Given the description of an element on the screen output the (x, y) to click on. 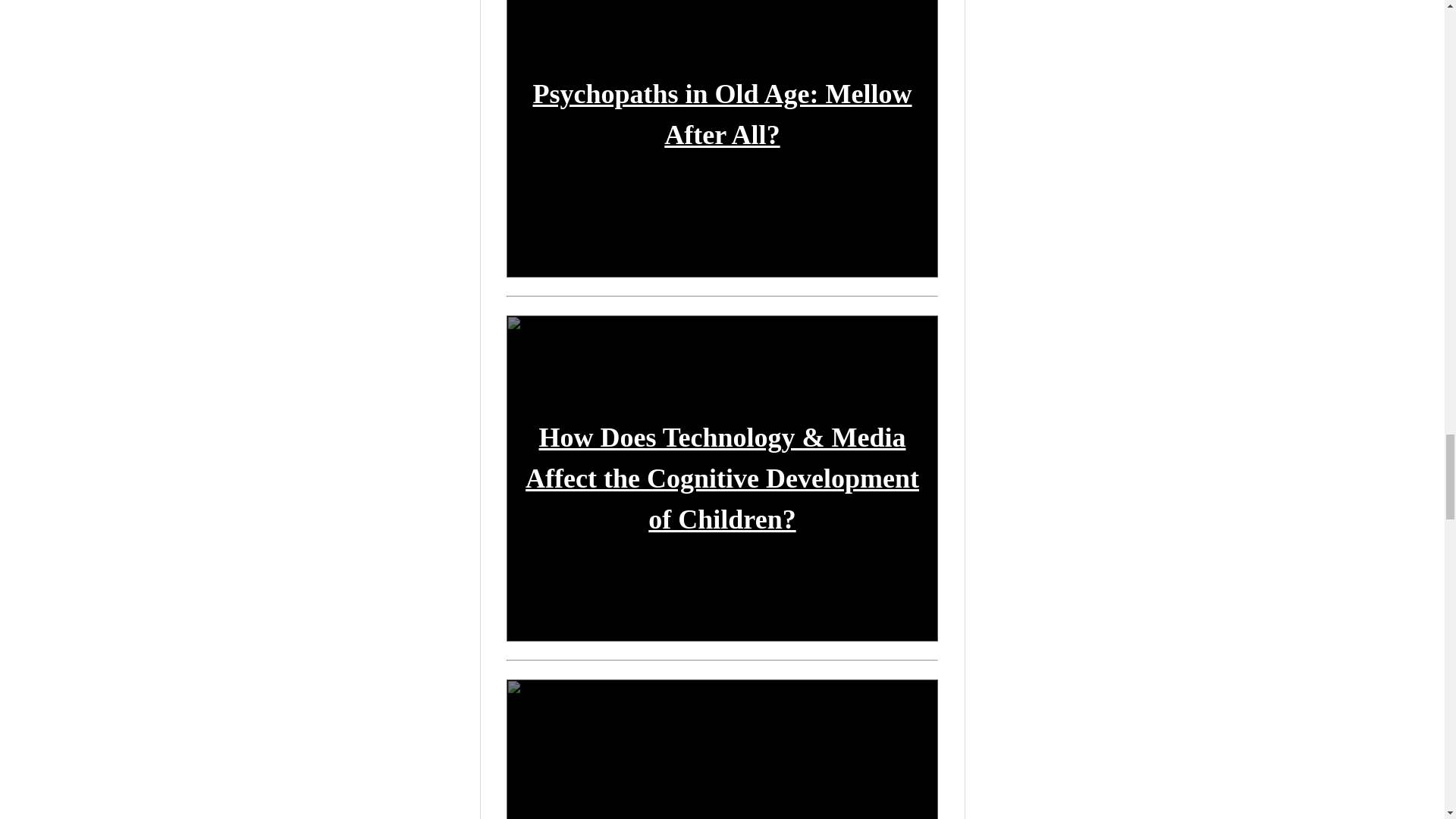
Psychopaths in Old Age: Mellow After All? (721, 113)
